Given the description of an element on the screen output the (x, y) to click on. 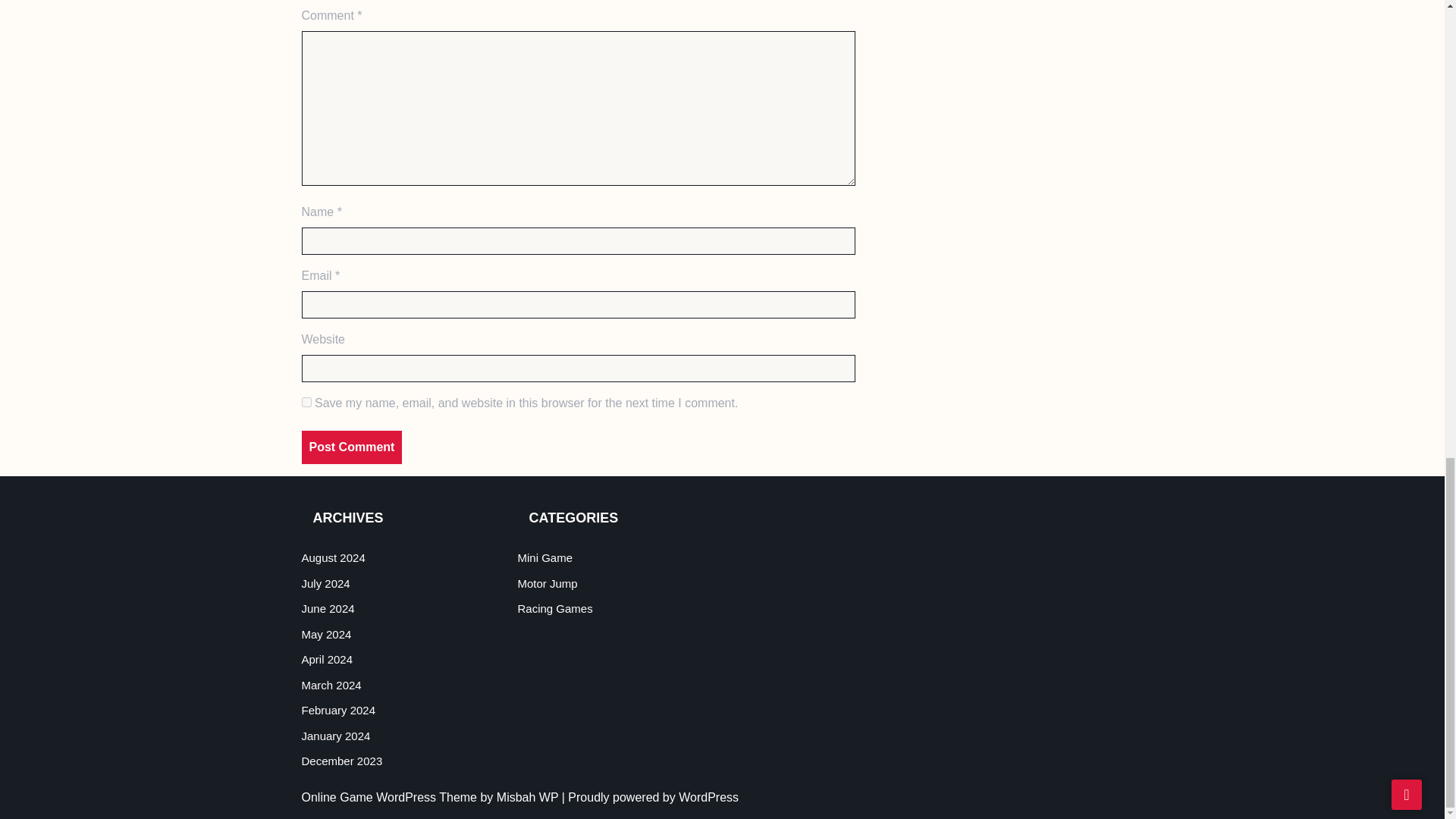
March 2024 (331, 684)
Racing Games (554, 608)
April 2024 (327, 658)
December 2023 (341, 760)
Mini Game (544, 557)
yes (306, 402)
June 2024 (328, 608)
May 2024 (326, 634)
February 2024 (338, 709)
August 2024 (333, 557)
Post Comment (352, 447)
Post Comment (352, 447)
Online Game WordPress Theme (390, 797)
January 2024 (336, 735)
Motor Jump (546, 583)
